Given the description of an element on the screen output the (x, y) to click on. 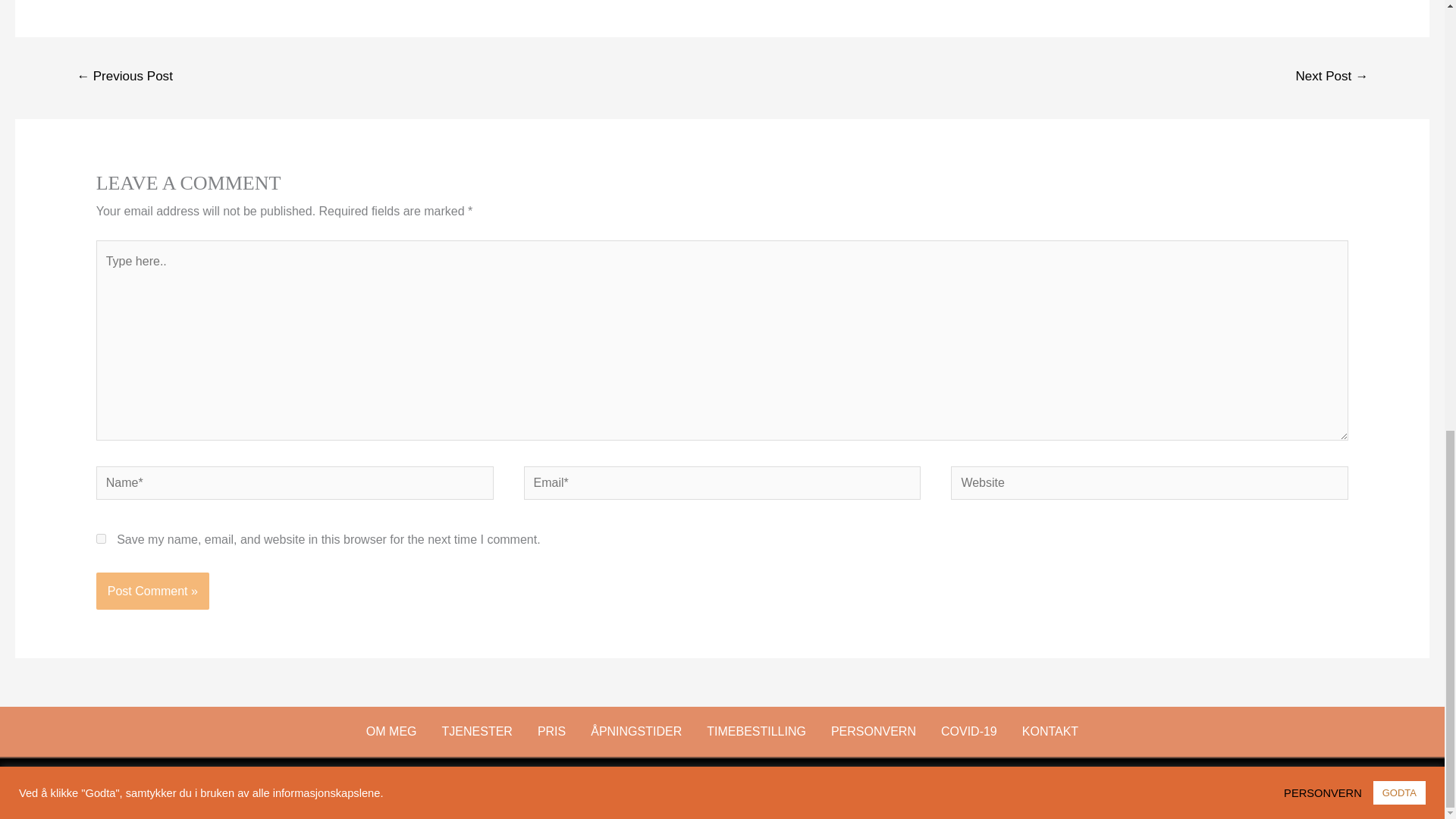
COVID-19 (969, 731)
PERSONVERN (873, 731)
TIMEBESTILLING (755, 731)
TJENESTER (477, 731)
KONTAKT (1049, 731)
yes (101, 538)
PRIS (550, 731)
OM MEG (391, 731)
